Given the description of an element on the screen output the (x, y) to click on. 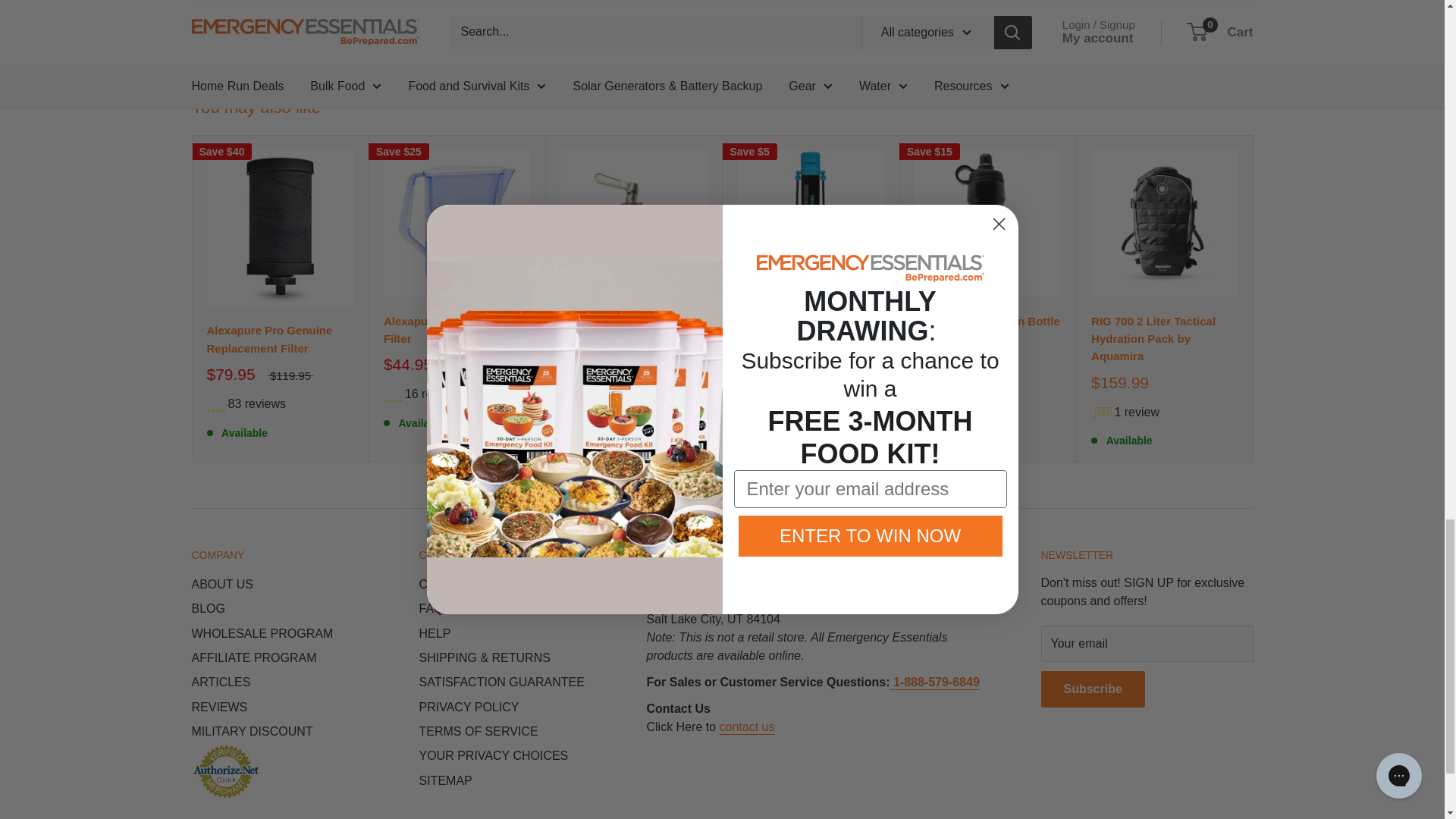
tel:1-888-579-6849 (934, 681)
